Given the description of an element on the screen output the (x, y) to click on. 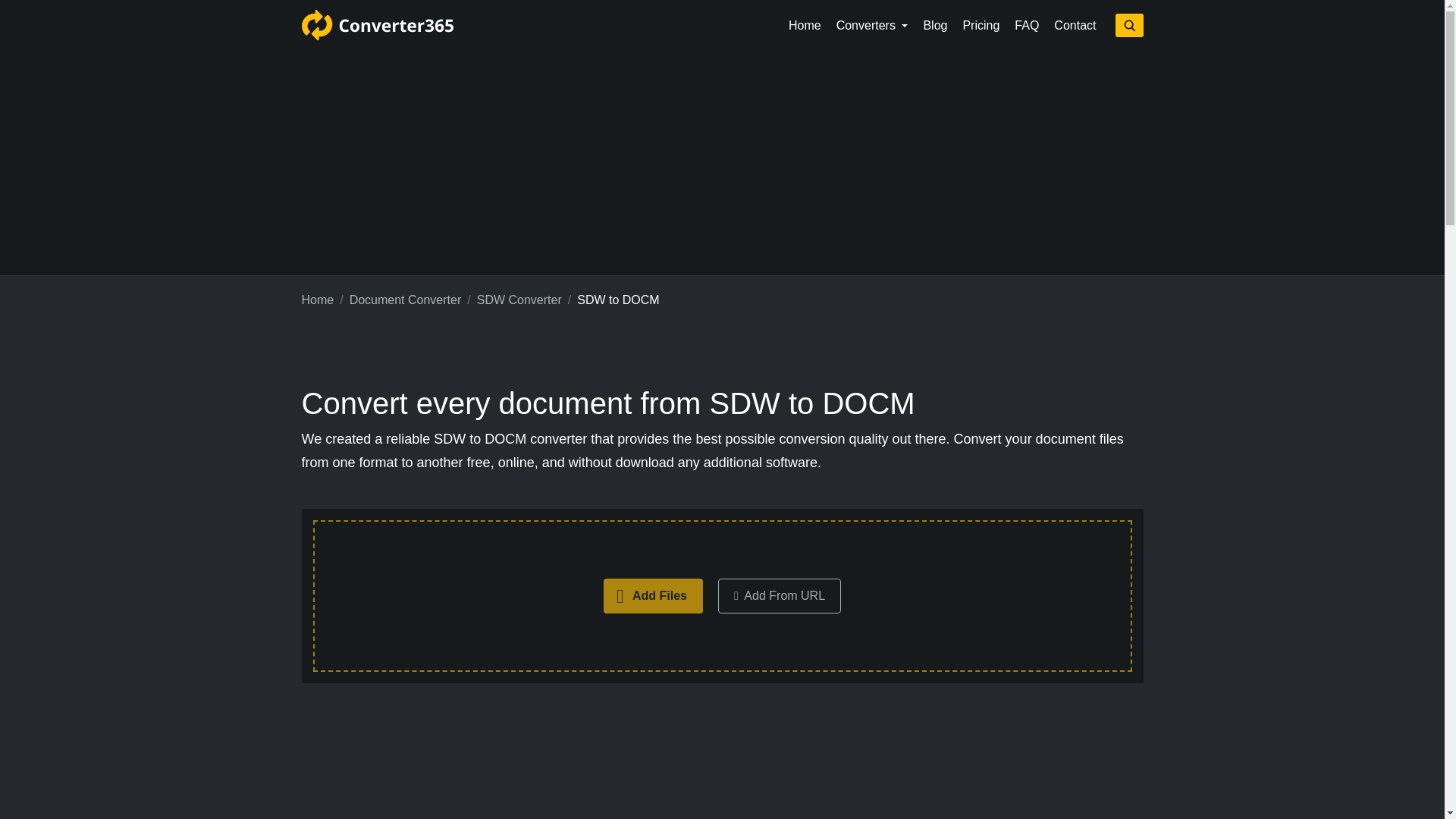
Pricing (981, 25)
Drop files here (721, 595)
Home (804, 25)
Document Converter (405, 300)
Add Files (653, 595)
Converter365 (376, 24)
Contact (1074, 25)
FAQ (1026, 25)
Add From URL (779, 595)
Converters (871, 25)
Add file from url (779, 595)
SDW Converter (519, 300)
Home (317, 300)
Blog (935, 25)
Search for supported converters (1128, 24)
